Given the description of an element on the screen output the (x, y) to click on. 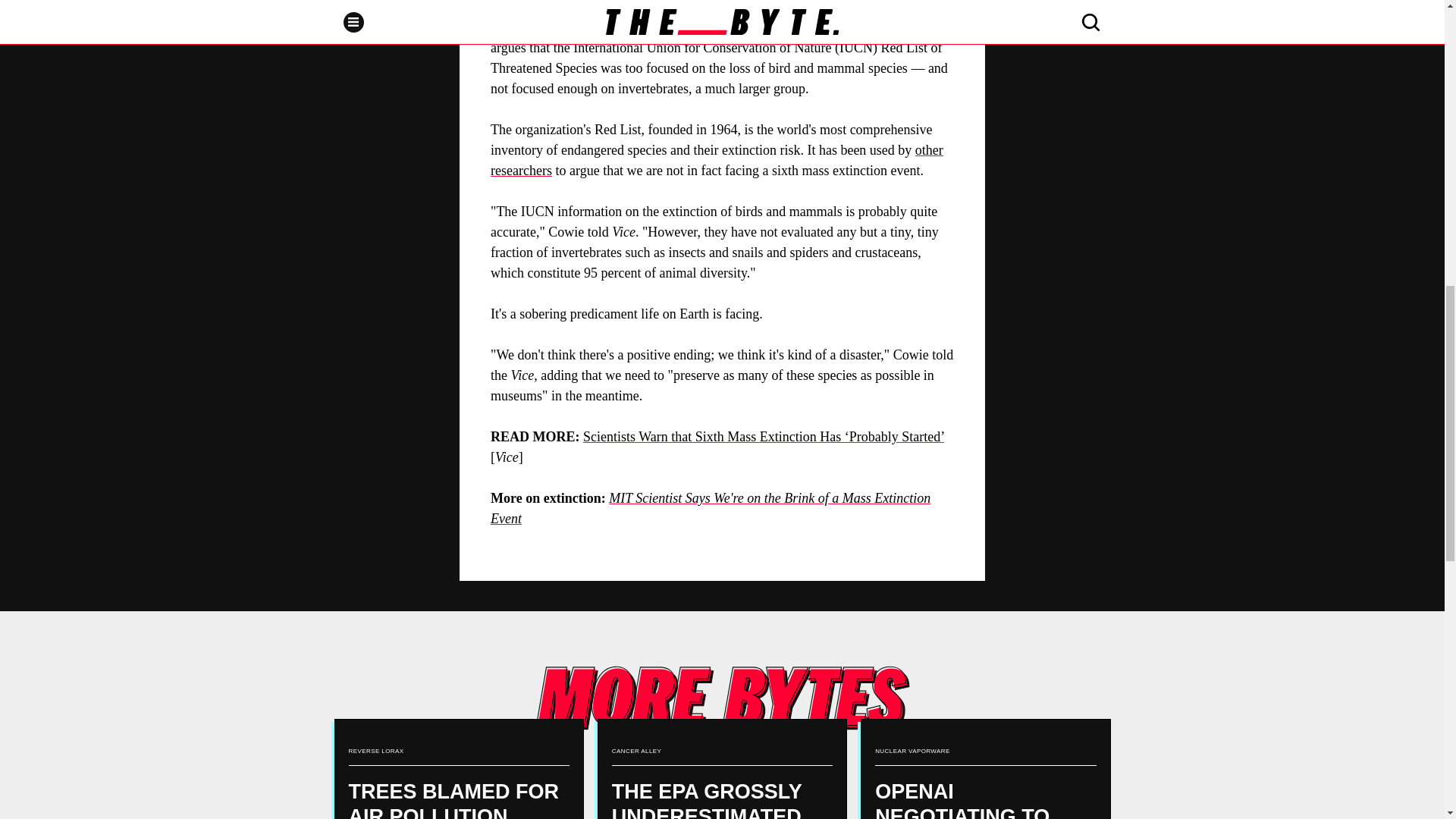
other researchers (716, 160)
Trees Blamed for Air Pollution (458, 769)
